Given the description of an element on the screen output the (x, y) to click on. 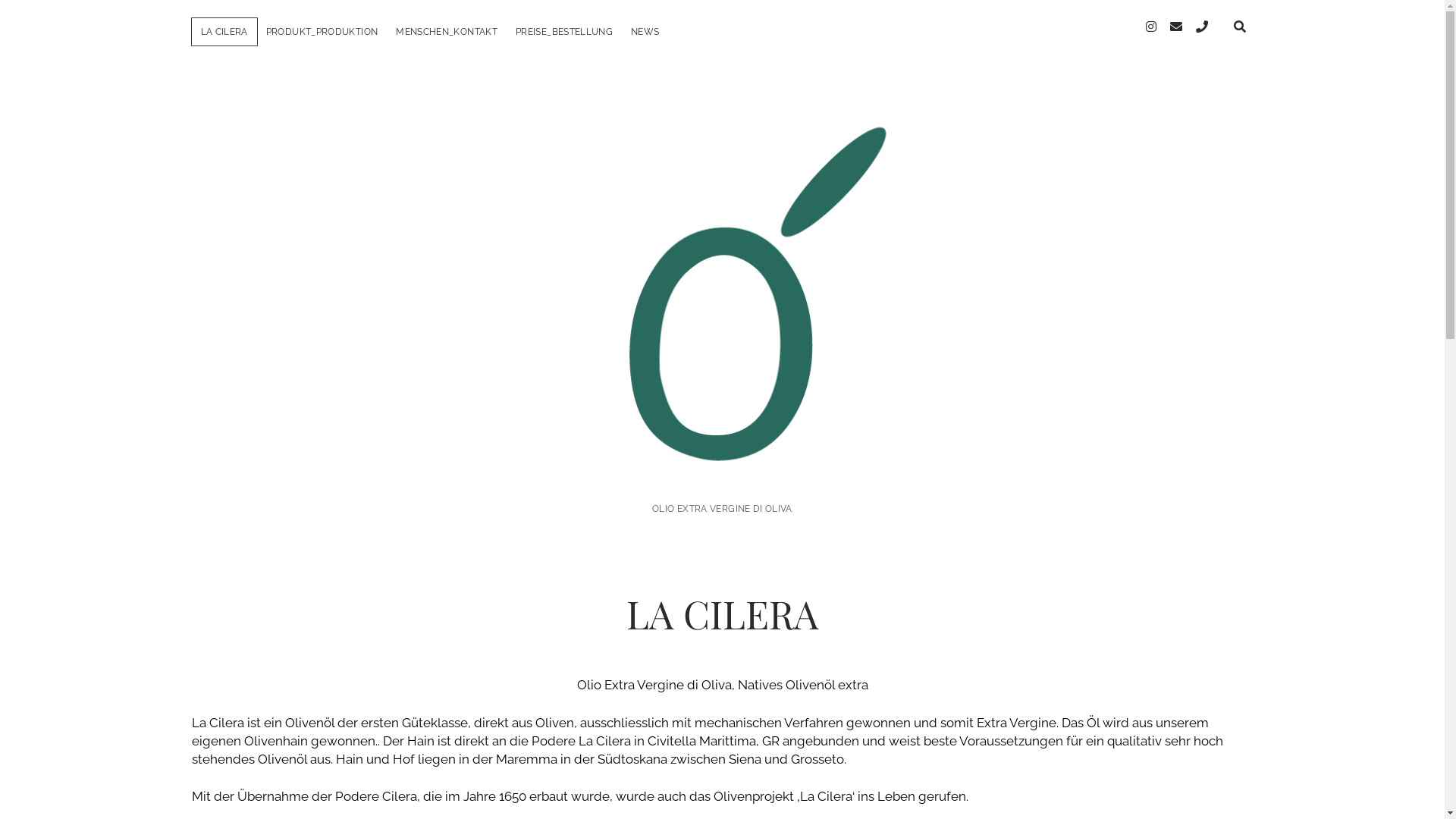
LA CILERA Element type: text (223, 31)
instagram Element type: hover (1150, 26)
PREISE_BESTELLUNG Element type: text (563, 31)
PRODUKT_PRODUKTION Element type: text (321, 31)
phone Element type: text (1201, 26)
instagram Element type: text (1150, 26)
NEWS Element type: text (644, 31)
MENSCHEN_KONTAKT Element type: text (446, 31)
LA CILERA Element type: text (721, 467)
email Element type: text (1175, 26)
+41793207884 Element type: hover (1201, 26)
mail@cilera.ch Element type: hover (1175, 26)
